Given the description of an element on the screen output the (x, y) to click on. 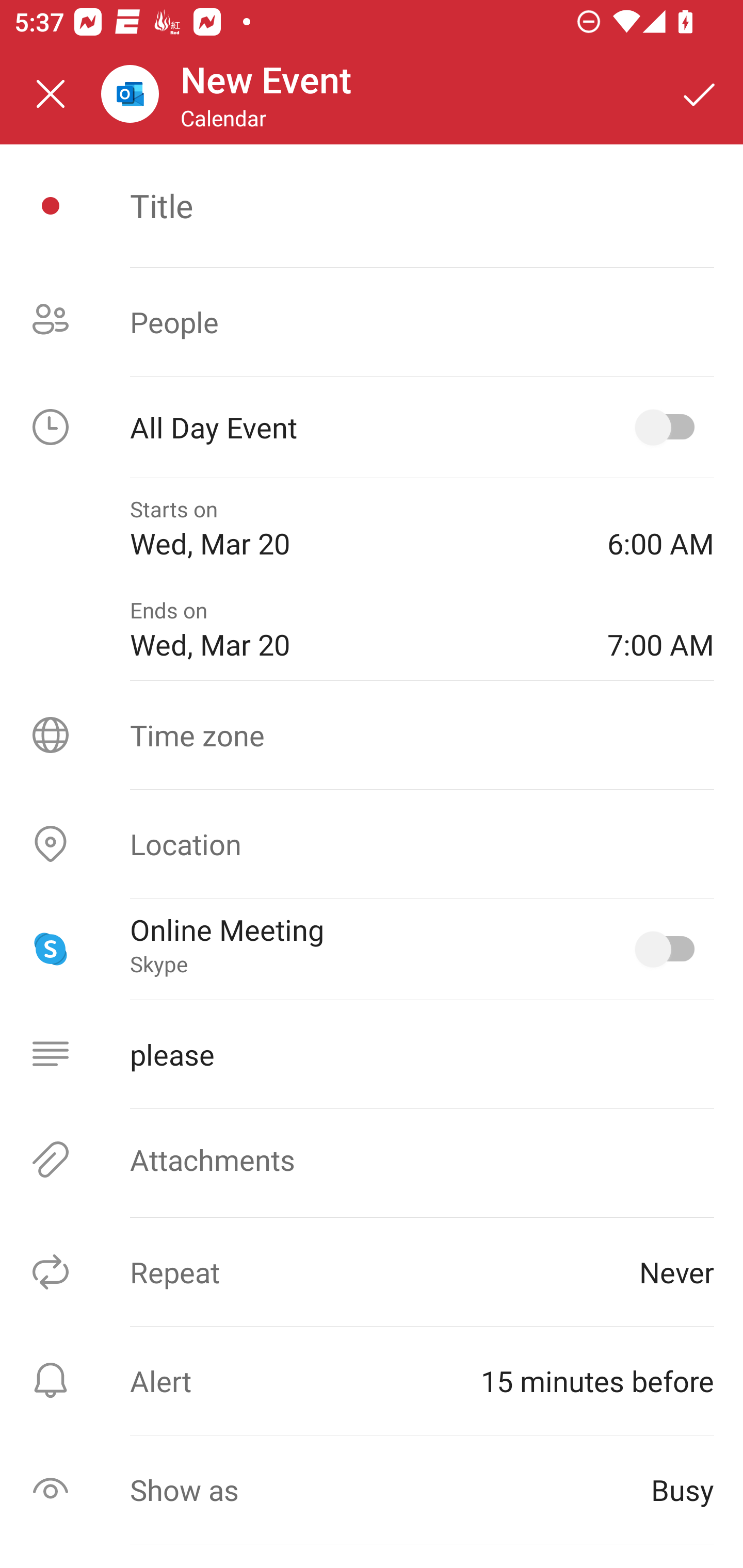
Close (50, 93)
Save (699, 93)
Title (422, 205)
Event icon picker (50, 206)
People (371, 322)
All Day Event (371, 427)
Starts on Wed, Mar 20 (353, 528)
6:00 AM (660, 528)
Ends on Wed, Mar 20 (353, 629)
7:00 AM (660, 629)
Time zone (371, 734)
Location (371, 844)
Online Meeting, Skype selected (669, 949)
please    Description, please    (371, 1054)
Attachments (371, 1159)
Repeat Never (371, 1272)
Alert ⁨15 minutes before (371, 1380)
Show as Busy (371, 1489)
